Given the description of an element on the screen output the (x, y) to click on. 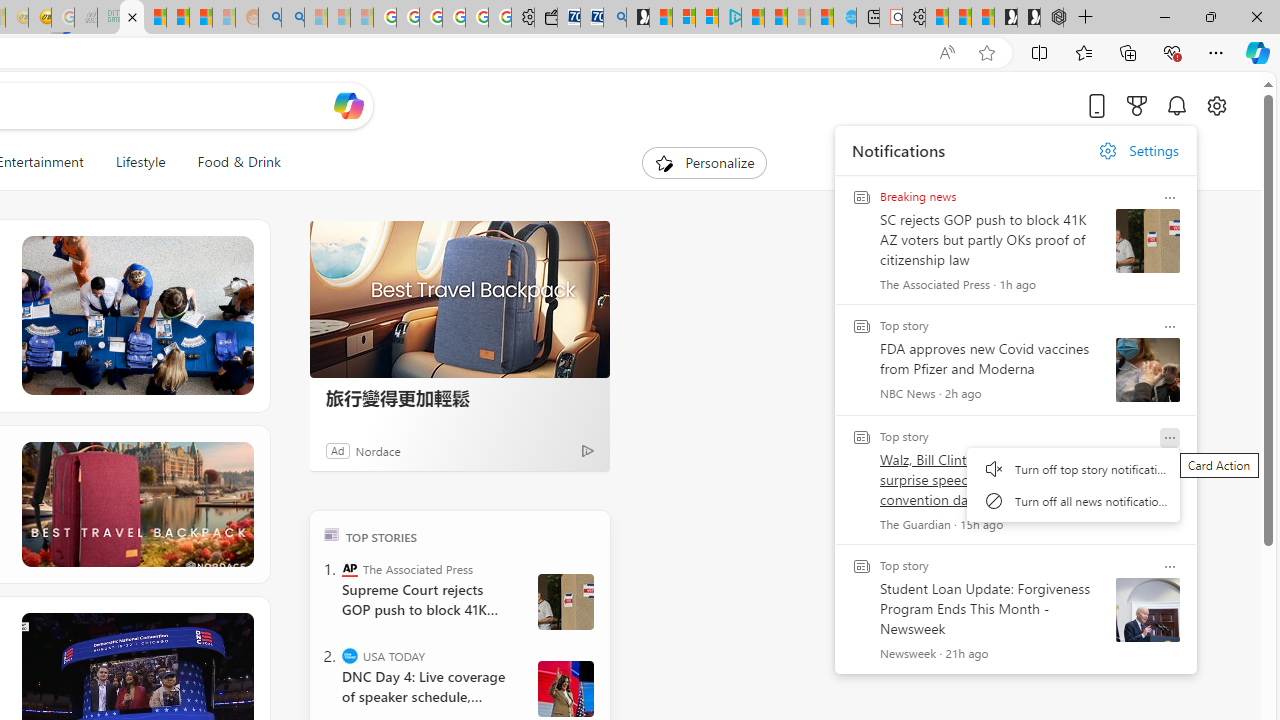
Student Loan Update: Forgiveness Program Ends This Month (200, 17)
